Given the description of an element on the screen output the (x, y) to click on. 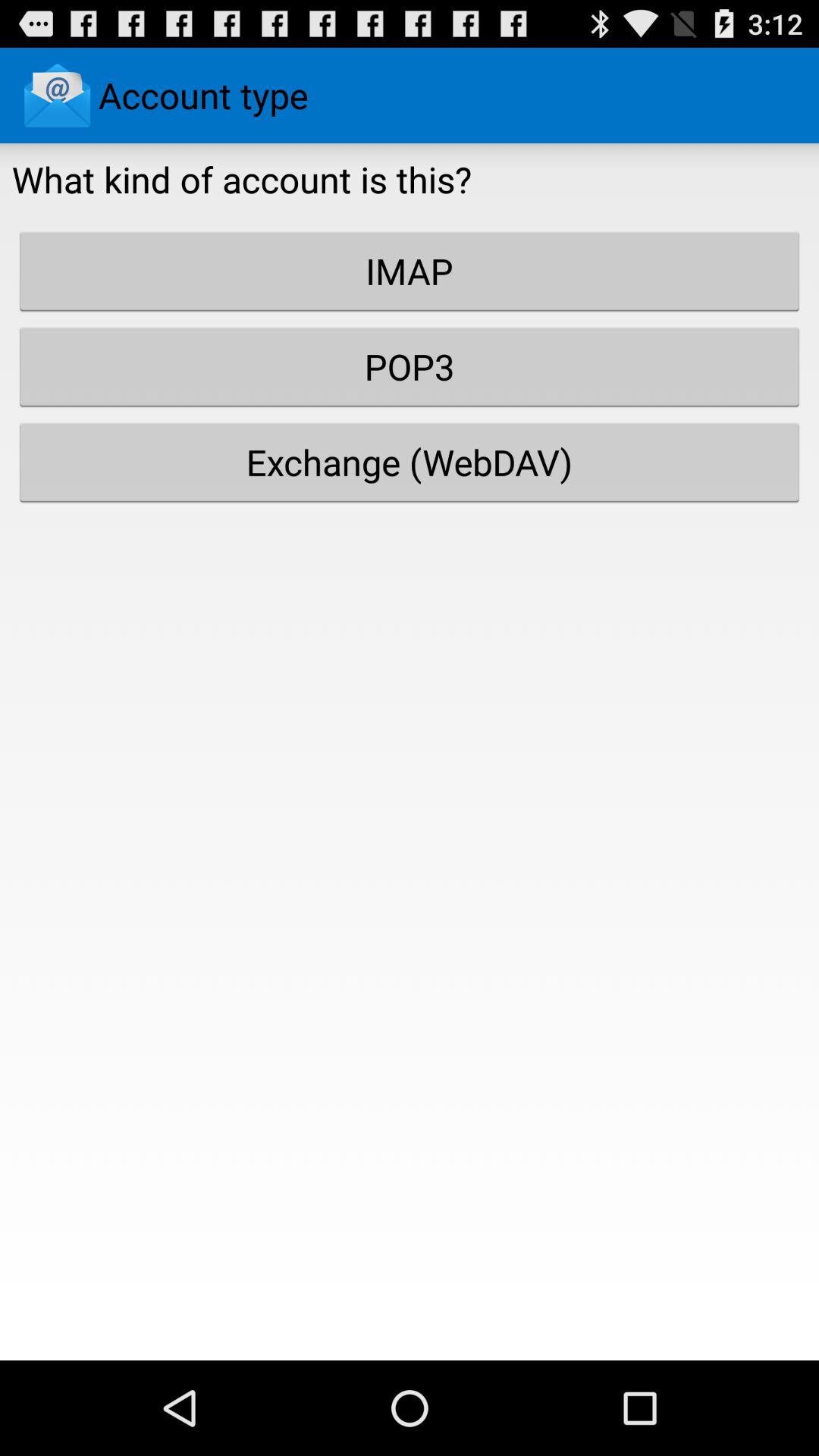
select the icon below the pop3 button (409, 462)
